Given the description of an element on the screen output the (x, y) to click on. 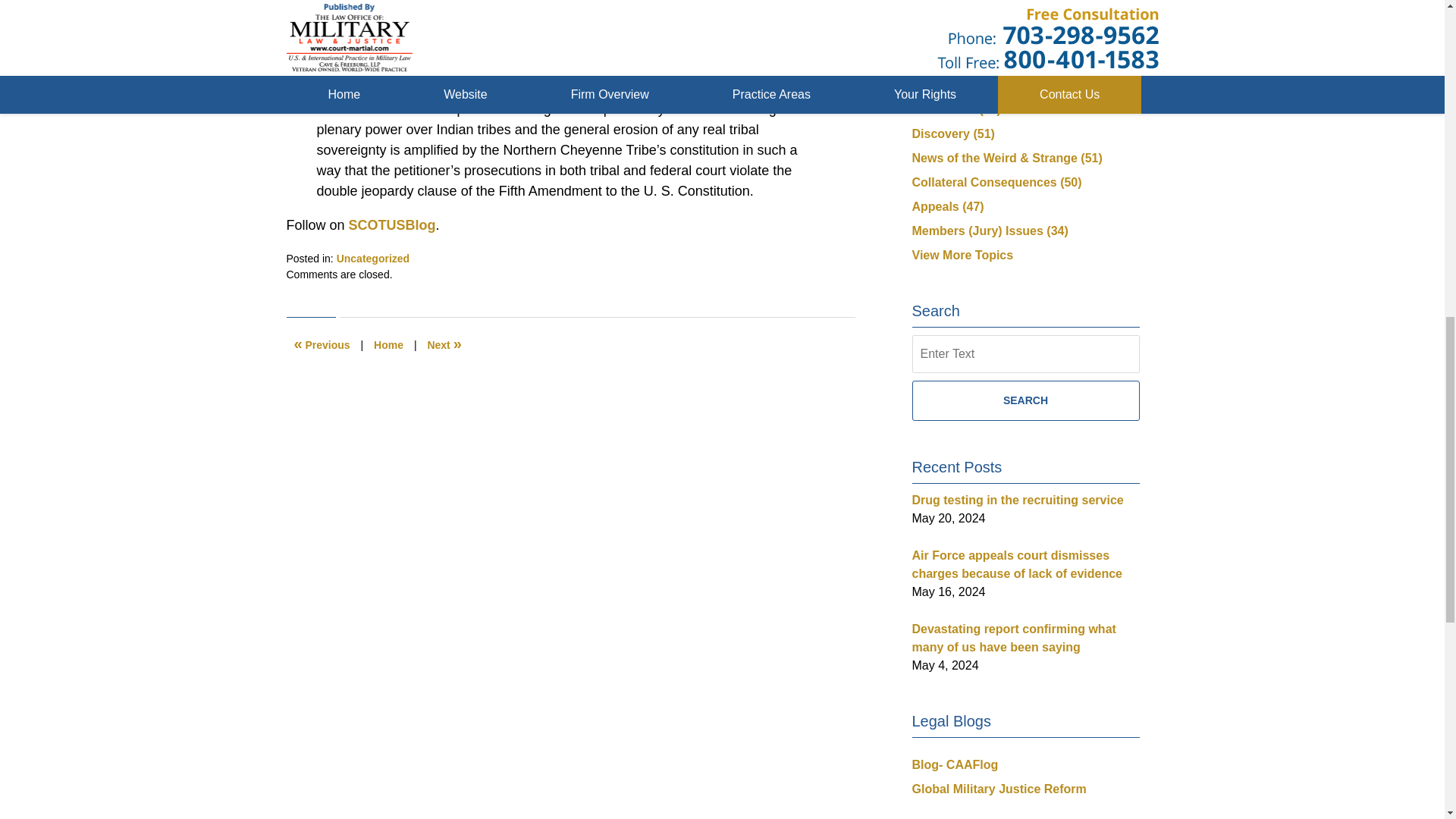
Bearcomesout v. United States (416, 68)
Post trial errors (443, 344)
SCOTUSBlog (390, 224)
Home (388, 344)
View all posts in Uncategorized (372, 258)
Uncategorized (372, 258)
Bearcomesout v. United States (416, 68)
